Given the description of an element on the screen output the (x, y) to click on. 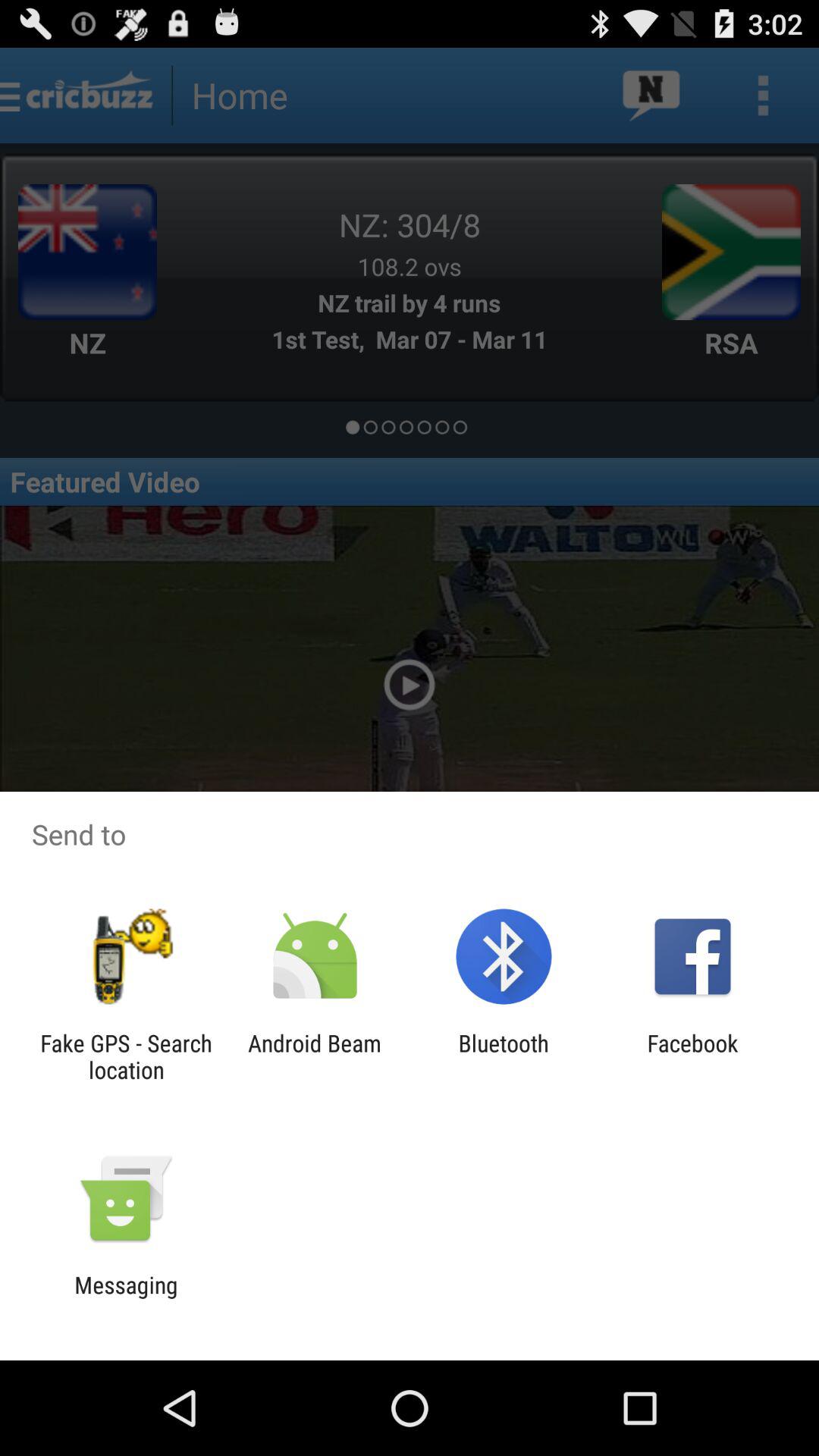
press item to the right of the android beam (503, 1056)
